Given the description of an element on the screen output the (x, y) to click on. 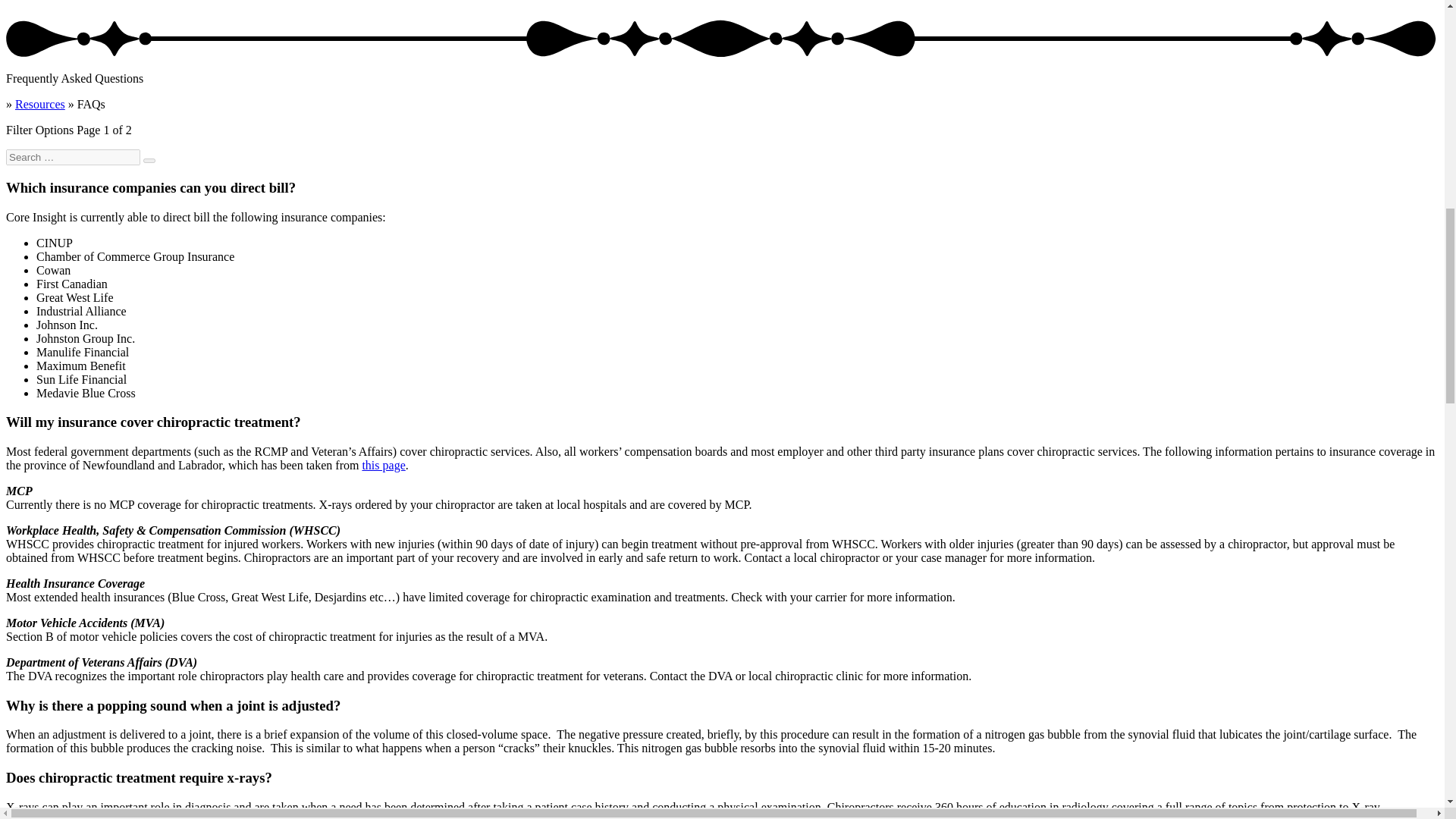
Search (148, 160)
Filter Options (39, 129)
Resources (39, 103)
this page (382, 464)
